Given the description of an element on the screen output the (x, y) to click on. 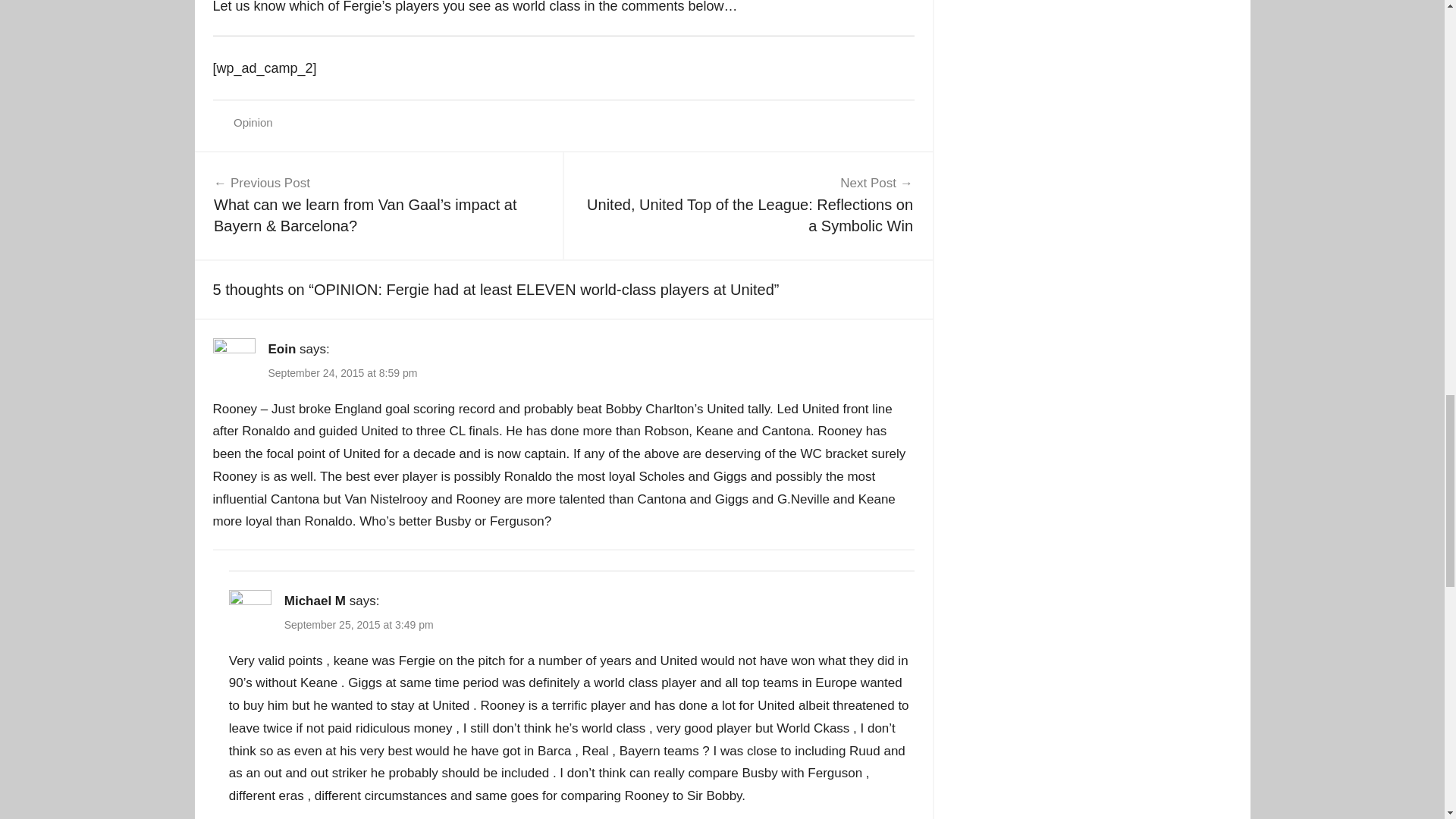
Opinion (252, 122)
September 24, 2015 at 8:59 pm (342, 372)
September 25, 2015 at 3:49 pm (358, 624)
